Given the description of an element on the screen output the (x, y) to click on. 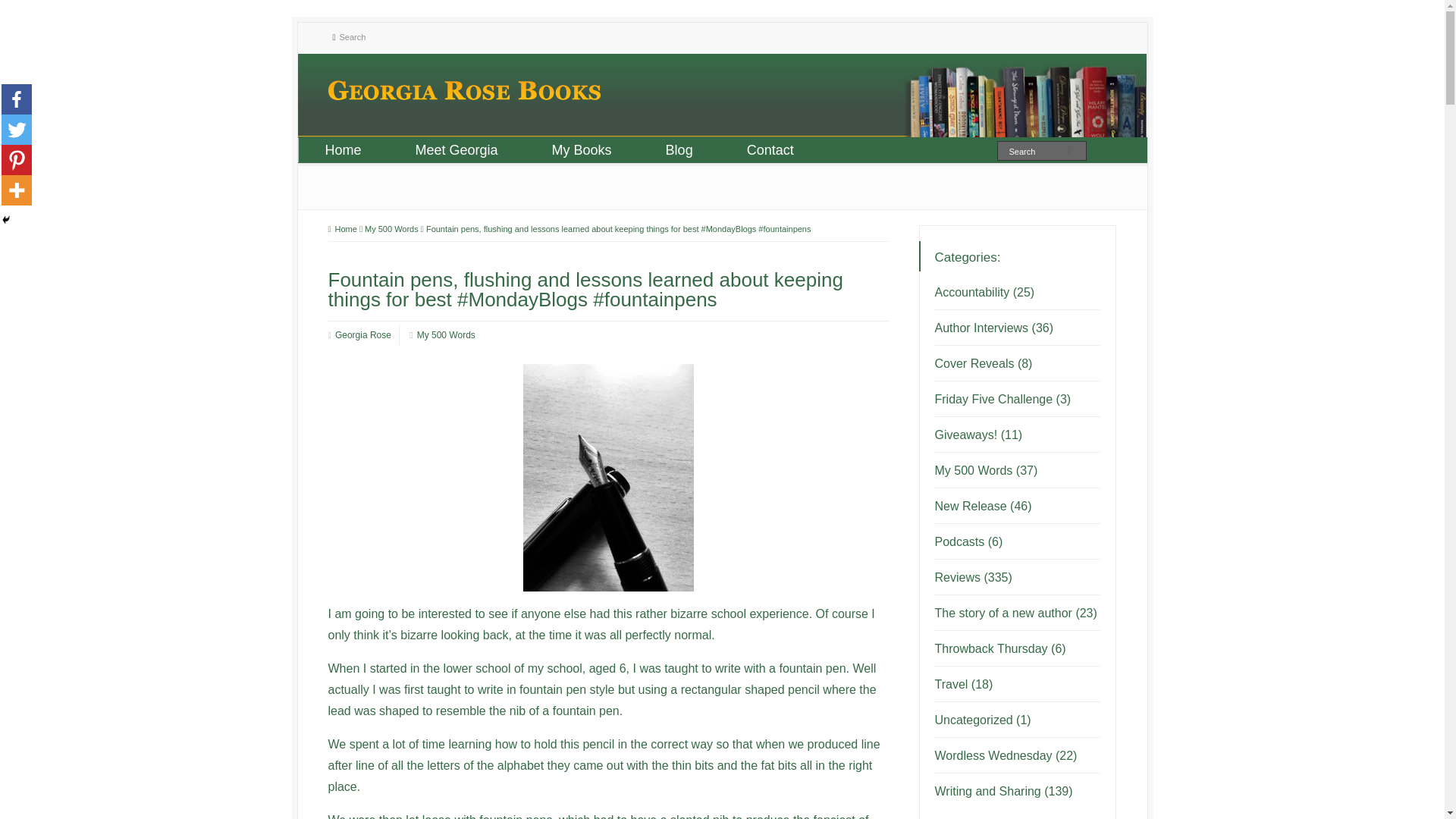
More (16, 190)
Hide (5, 219)
Blog (679, 150)
My 500 Words (392, 228)
Georgia Rose (362, 334)
My 500 Words (446, 334)
Pinterest (16, 159)
Home (341, 228)
Posts by Georgia Rose (362, 334)
Facebook (16, 99)
Contact (770, 150)
Meet Georgia (456, 150)
Georgia Rose Books (463, 95)
Home (343, 150)
Twitter (16, 129)
